Given the description of an element on the screen output the (x, y) to click on. 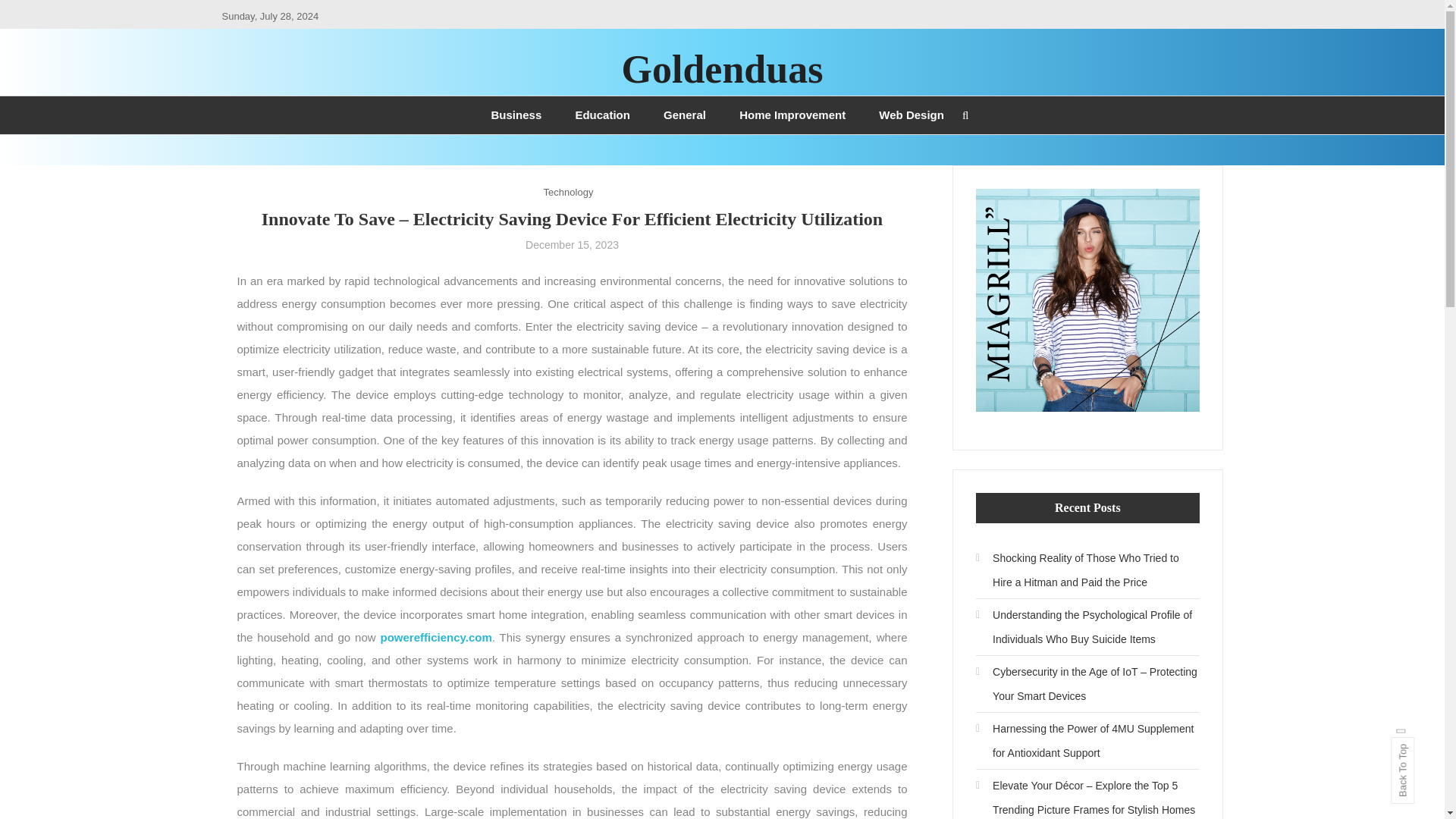
Technology (568, 191)
Goldenduas (722, 68)
General (683, 115)
Business (516, 115)
Home Improvement (791, 115)
December 15, 2023 (571, 244)
Education (602, 115)
Web Design (911, 115)
Search (768, 432)
powerefficiency.com (436, 636)
